Given the description of an element on the screen output the (x, y) to click on. 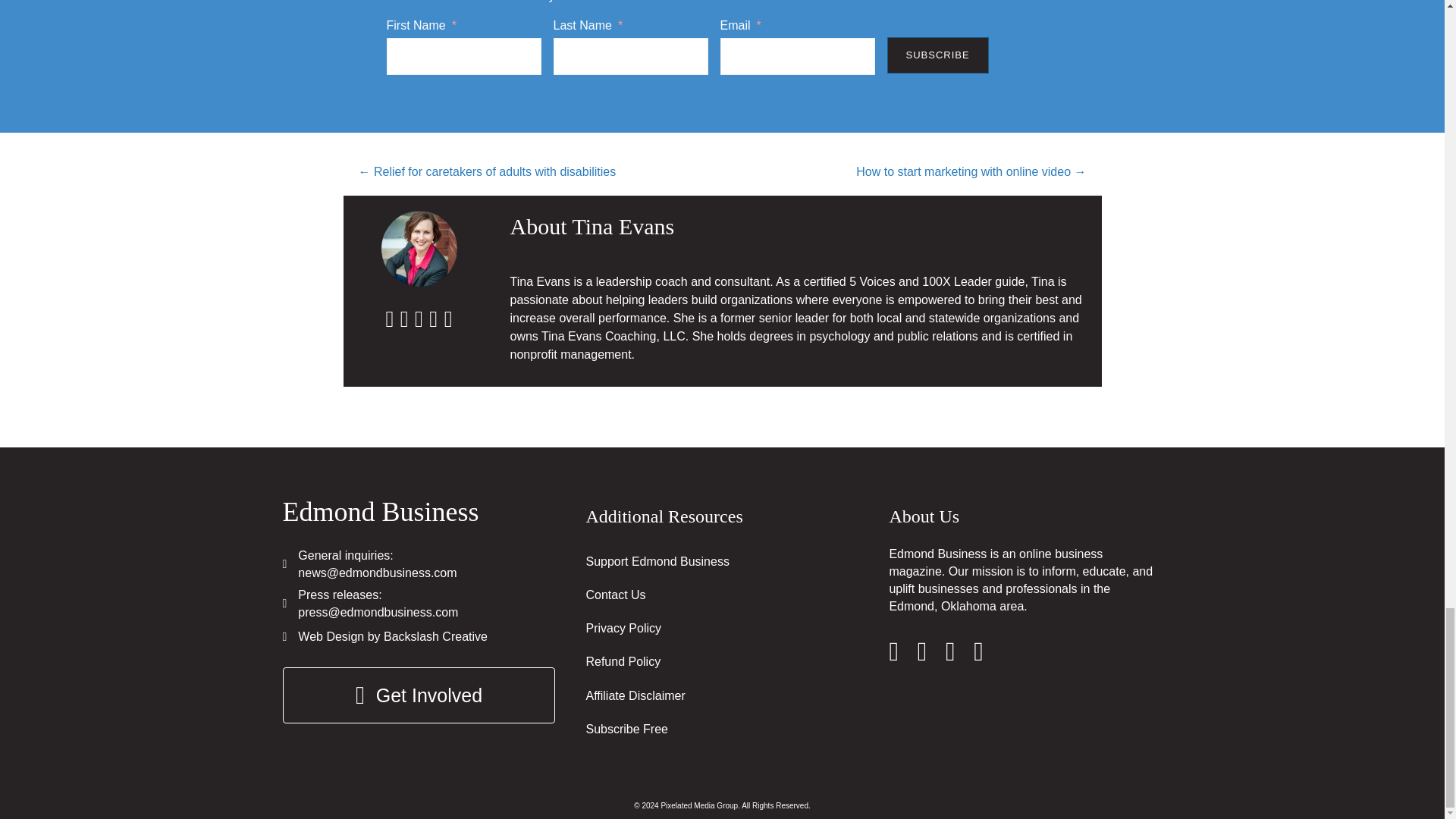
Subscribe (937, 54)
Subscribe (937, 54)
General inquiries: (345, 554)
